Given the description of an element on the screen output the (x, y) to click on. 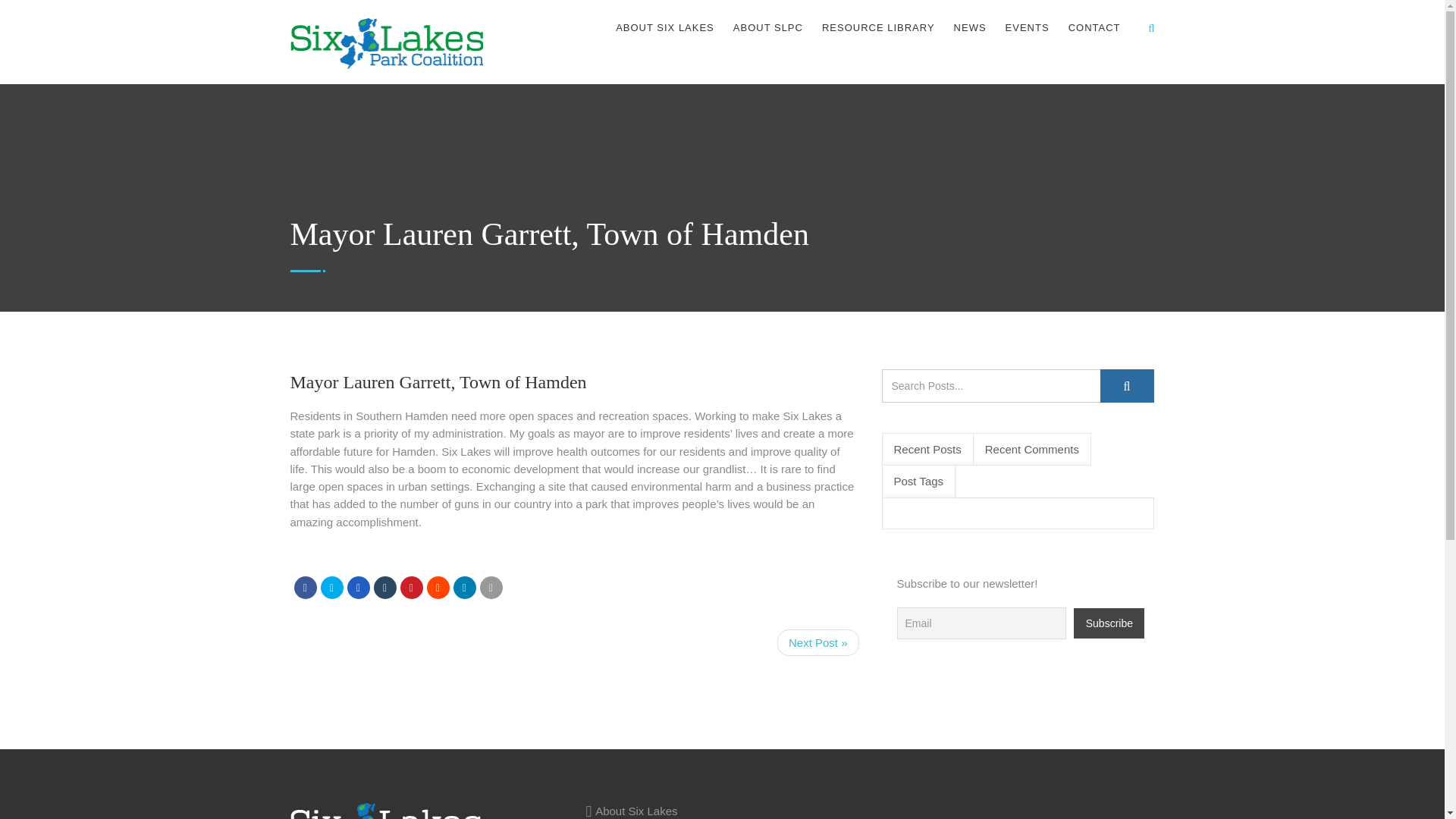
Post to Tumblr (384, 587)
Subscribe (1109, 623)
Recent Comments (1031, 449)
Share on Linkedin (437, 587)
Email (490, 587)
Post Tags (917, 481)
Pin it (411, 587)
Tweet (331, 587)
Share on Linkedin (464, 587)
Share on Facebook (305, 587)
